Given the description of an element on the screen output the (x, y) to click on. 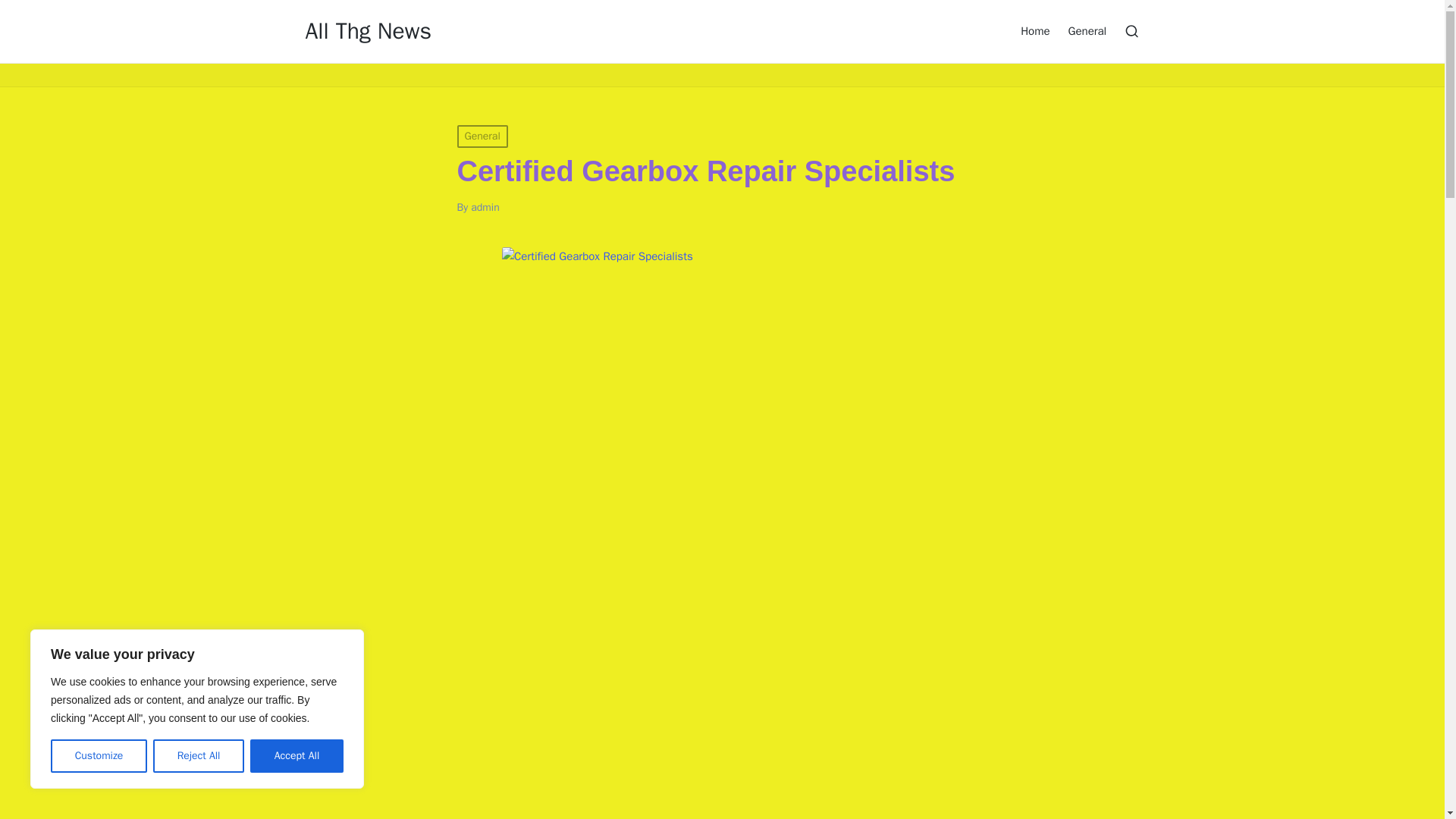
Accept All (296, 756)
General (481, 136)
Reject All (198, 756)
admin (484, 206)
View all posts by  (484, 206)
Home (1034, 30)
All Thg News (367, 31)
Customize (98, 756)
General (1087, 30)
